Given the description of an element on the screen output the (x, y) to click on. 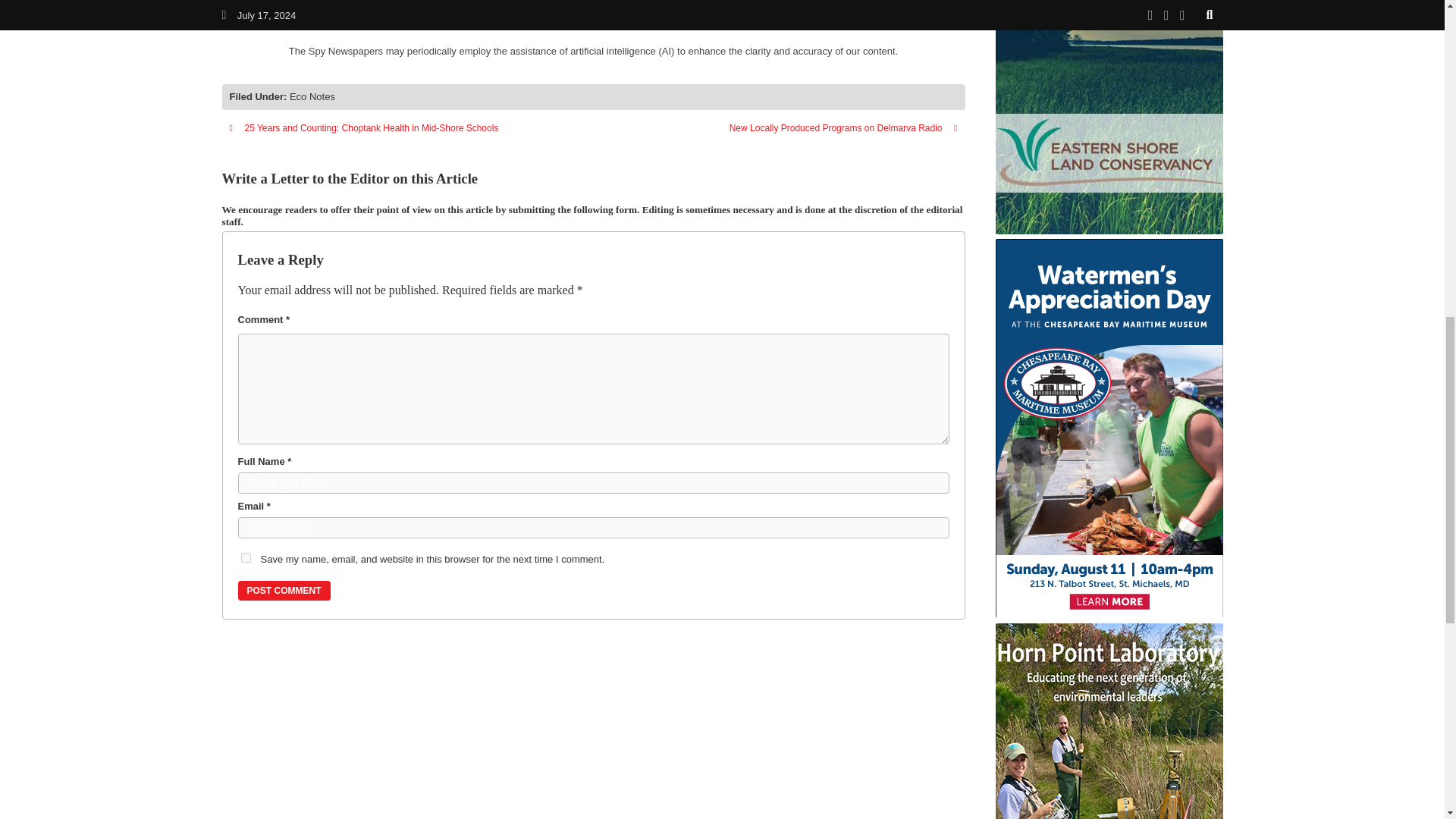
yes (245, 557)
Post Comment (284, 590)
